Given the description of an element on the screen output the (x, y) to click on. 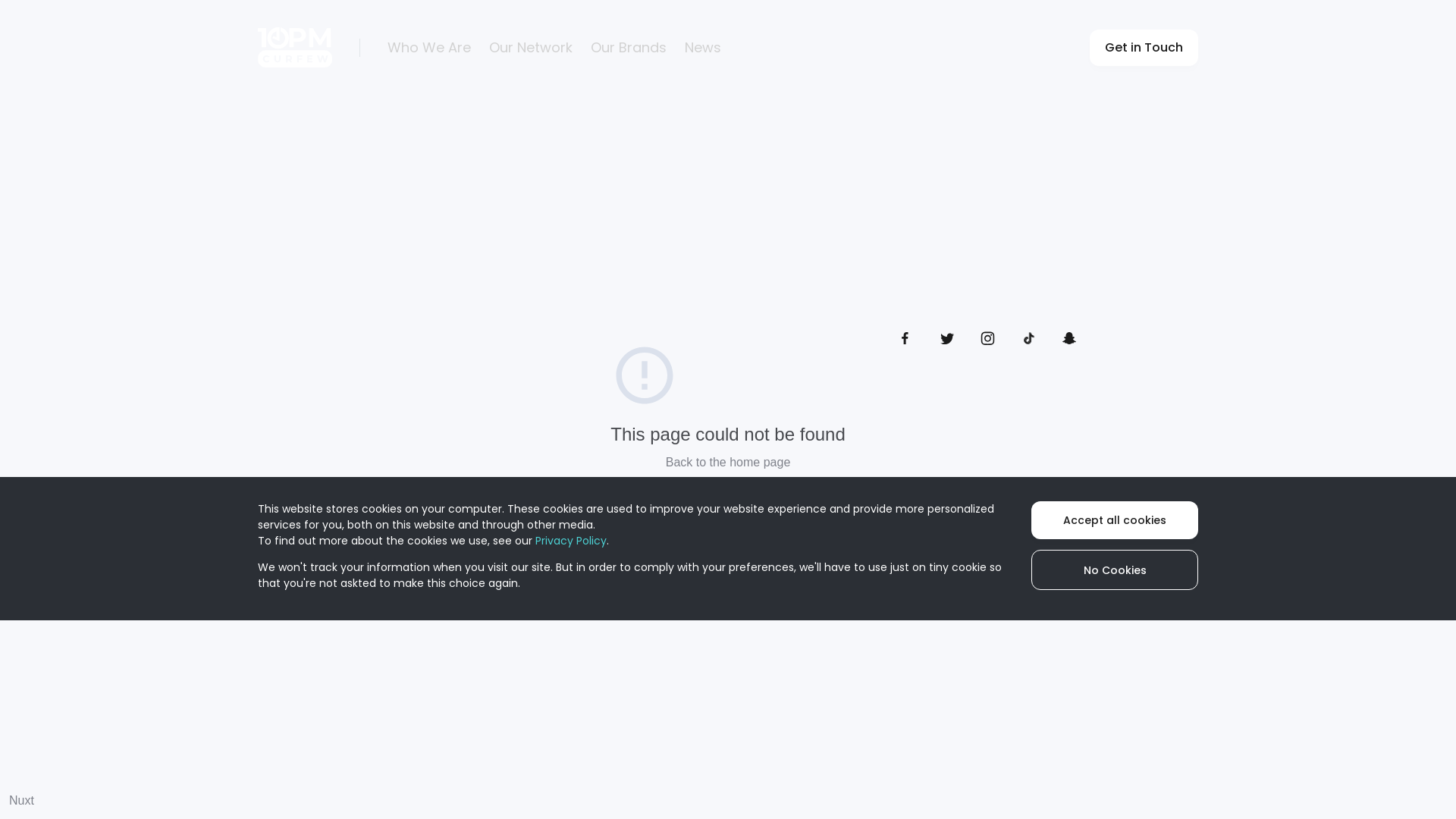
Our Brands Element type: text (628, 47)
Our Network Element type: text (924, 287)
Our Network Element type: text (530, 47)
Tiktok Element type: hover (1027, 337)
Our Brands Element type: text (1026, 287)
Back to the home page Element type: text (727, 461)
No Cookies Element type: text (1114, 569)
Accept all cookies Element type: text (1114, 520)
Nuxt Element type: text (21, 799)
News Element type: text (702, 47)
Snapchat Element type: hover (1068, 337)
Subscribe Element type: text (1133, 178)
Who We Are Element type: text (817, 287)
Get in Touch Element type: text (1143, 47)
Homepage Element type: hover (294, 47)
Who We Are Element type: text (428, 47)
Privacy Policy Element type: text (570, 540)
Homepage Element type: hover (294, 267)
News Element type: text (1091, 287)
Facebook Element type: hover (905, 337)
Twitter Element type: hover (945, 337)
Instagram Element type: hover (986, 337)
